Given the description of an element on the screen output the (x, y) to click on. 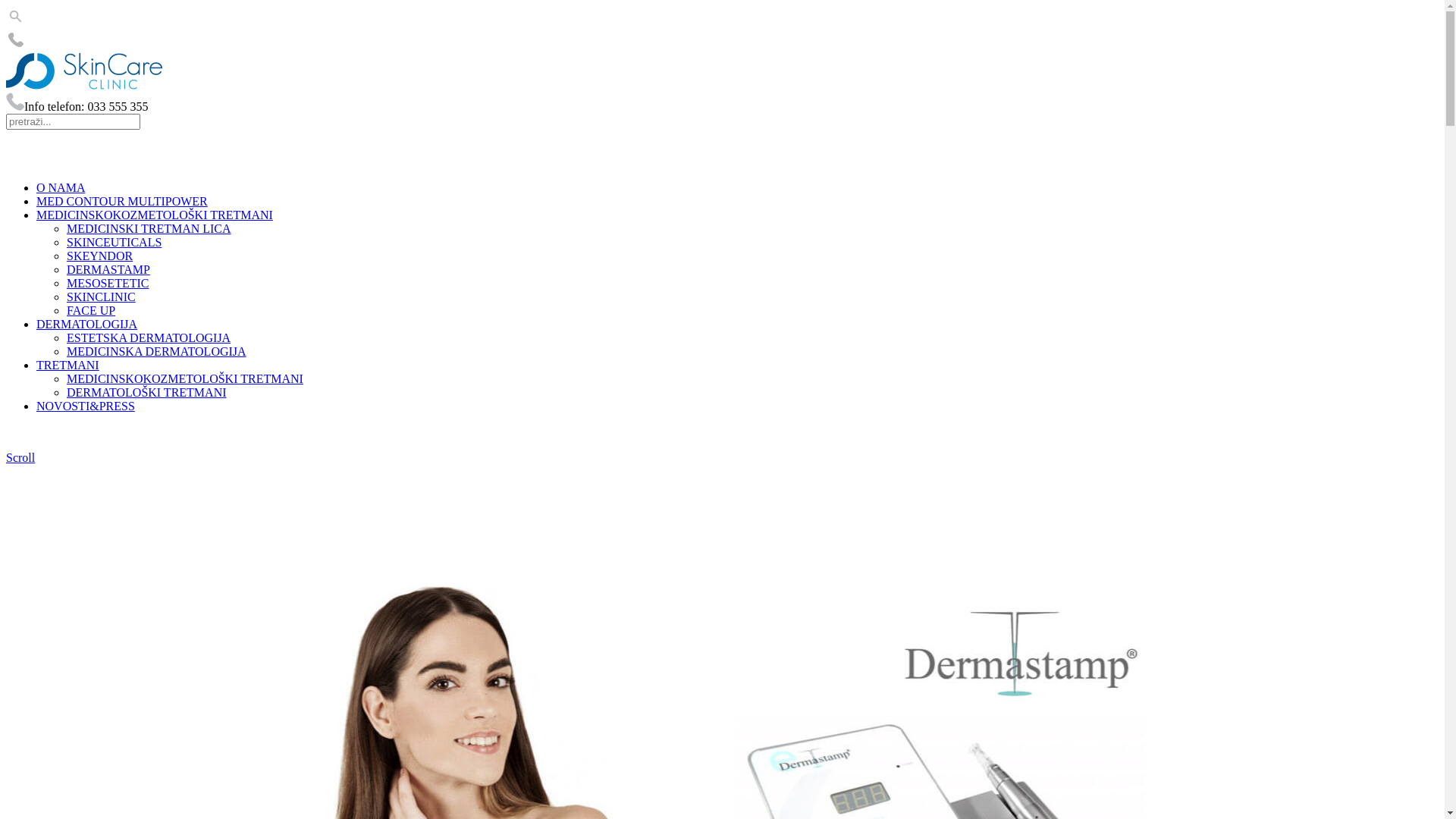
ESTETSKA DERMATOLOGIJA Element type: text (148, 337)
DERMASTAMP Element type: text (108, 269)
MEDICINSKI TRETMAN LICA Element type: text (148, 228)
FACE UP Element type: text (90, 310)
SKINCLINIC Element type: text (100, 296)
Scroll Element type: text (20, 457)
SKINCEUTICALS Element type: text (113, 241)
SKEYNDOR Element type: text (99, 255)
DERMATOLOGIJA Element type: text (86, 323)
O NAMA Element type: text (60, 187)
MEDICINSKA DERMATOLOGIJA Element type: text (156, 351)
TRETMANI Element type: text (67, 364)
MED CONTOUR MULTIPOWER Element type: text (121, 200)
NOVOSTI&PRESS Element type: text (85, 405)
MESOSETETIC Element type: text (107, 282)
